Given the description of an element on the screen output the (x, y) to click on. 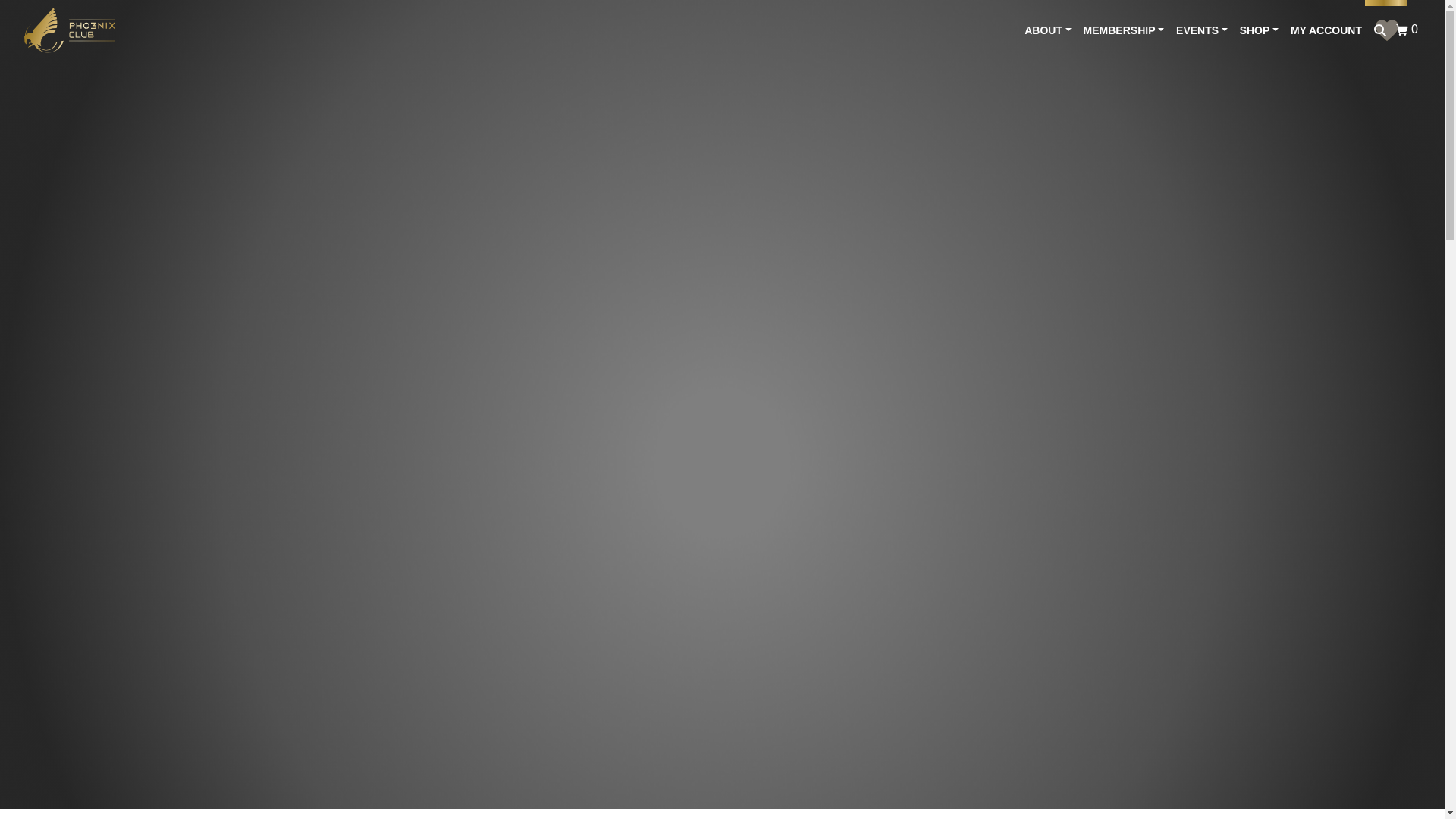
EVENTS (1201, 30)
About (1047, 30)
ABOUT (1047, 30)
SHOP (1258, 30)
MEMBERSHIP (1123, 30)
MY ACCOUNT (1326, 30)
Events (1201, 30)
Search (1408, 29)
Shop (1380, 30)
